Given the description of an element on the screen output the (x, y) to click on. 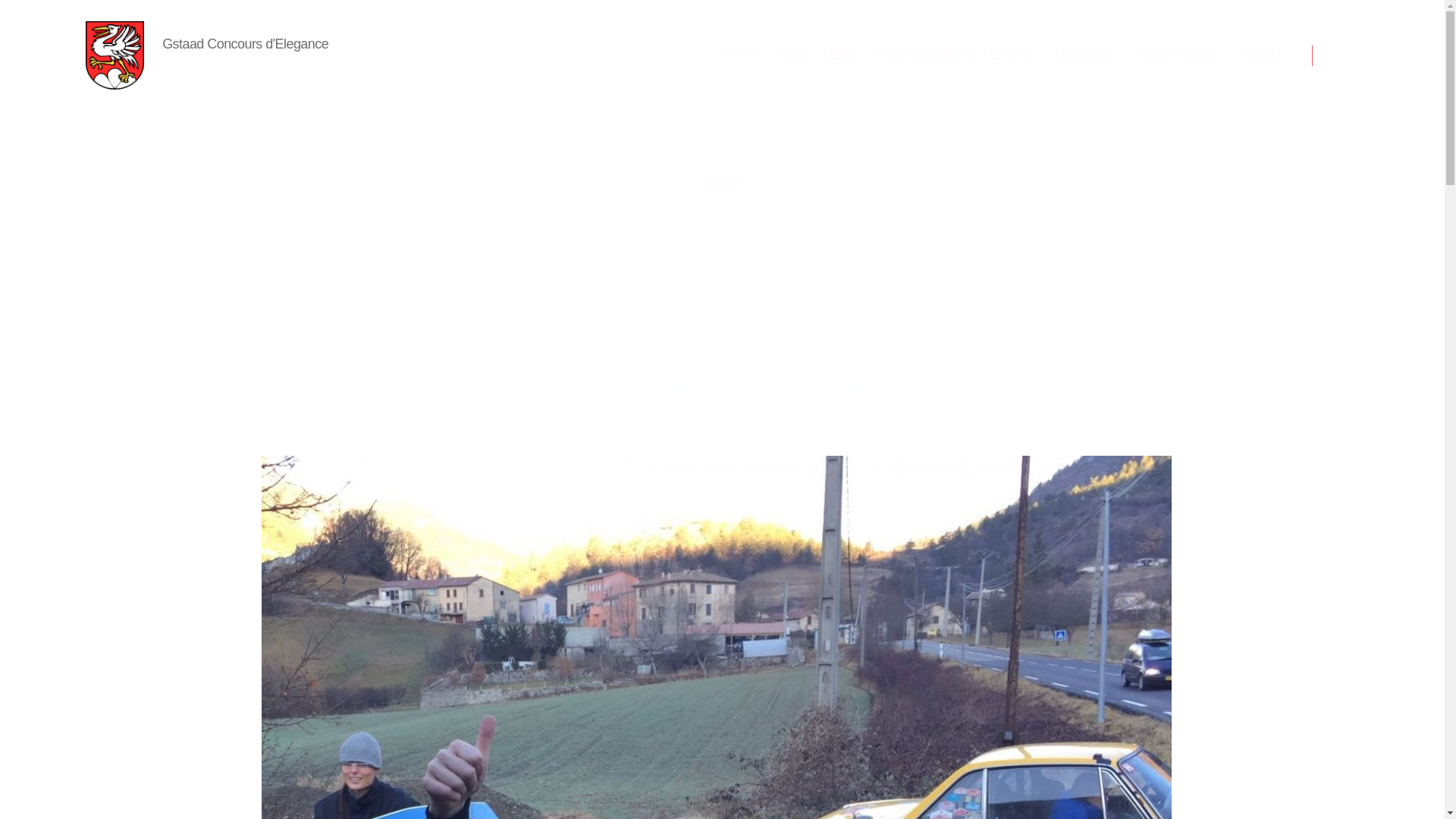
Entry Application (922, 54)
Hospitality (1085, 54)
Auction Values (1174, 54)
Entrants (1012, 54)
Farrol Kahn (618, 385)
Contact (1258, 54)
Blog (842, 54)
Home (739, 54)
Search (1350, 55)
About (793, 54)
